Given the description of an element on the screen output the (x, y) to click on. 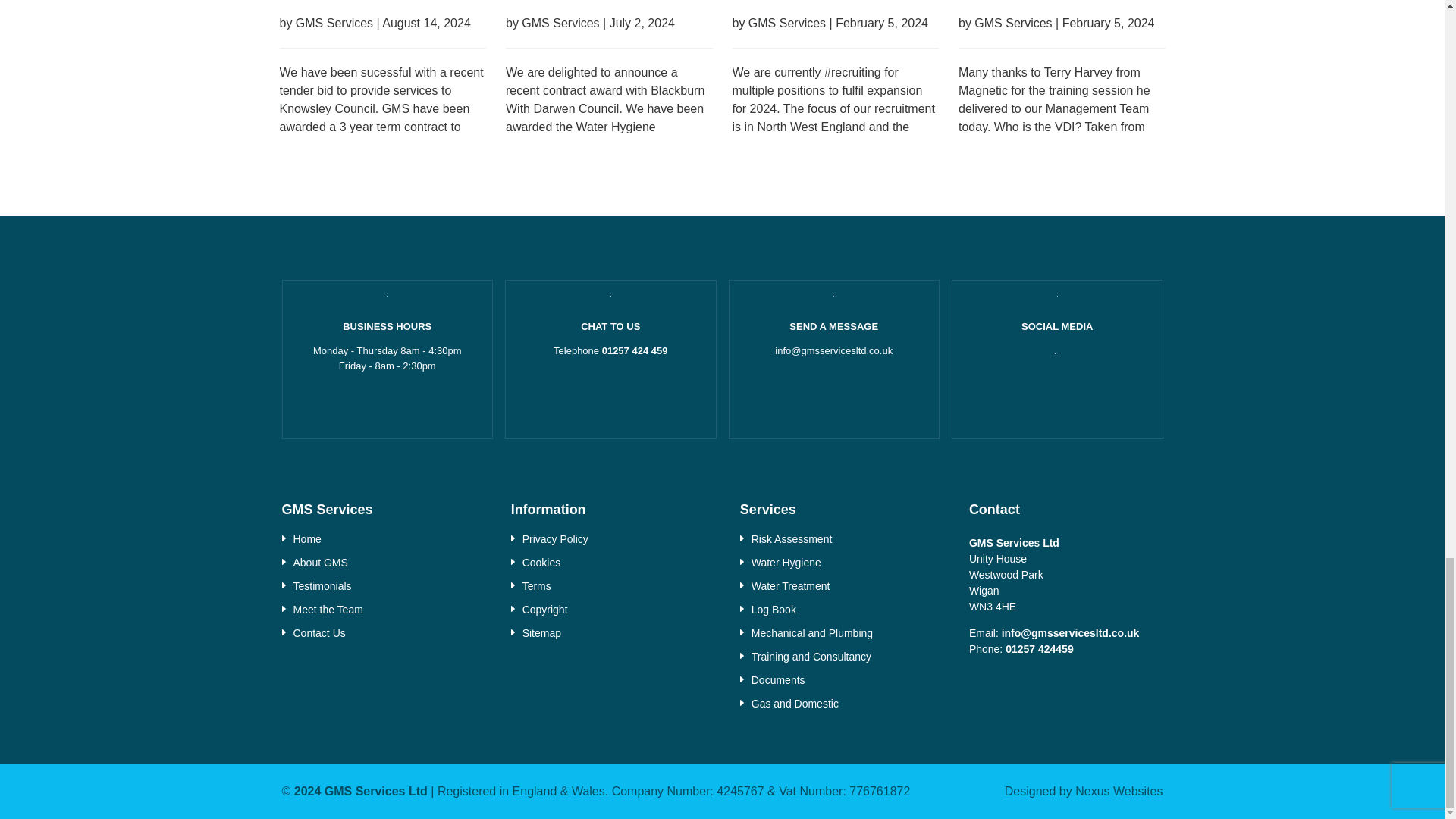
Recruitment Drive 2024! (835, 31)
Contract Win! (609, 31)
Contract Win News! (382, 31)
